Given the description of an element on the screen output the (x, y) to click on. 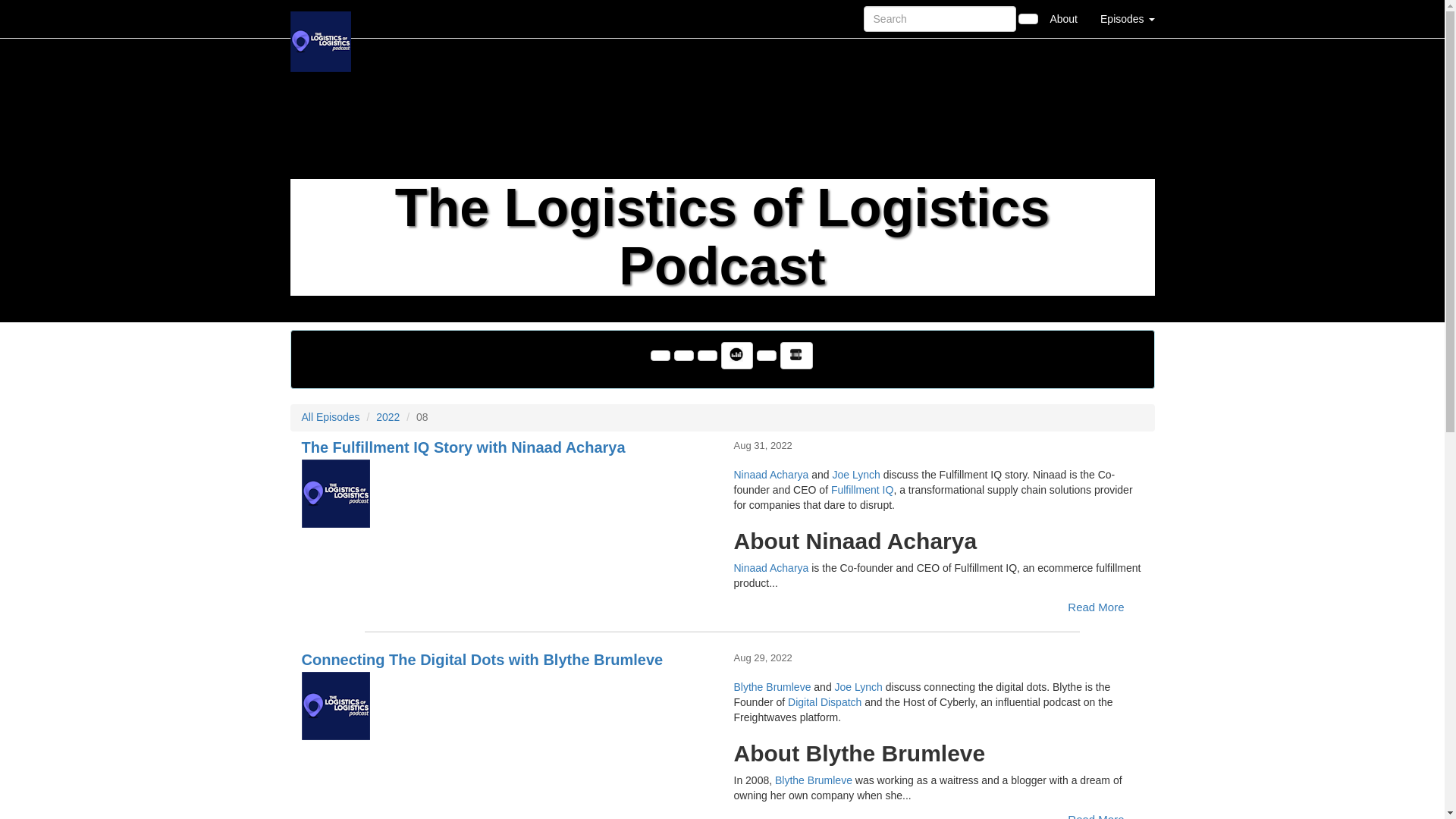
About (1063, 18)
Home Page (320, 18)
Episodes (1127, 18)
Connecting The Digital Dots with Blythe Brumleve (506, 705)
The Fulfillment IQ Story with Ninaad Acharya (506, 493)
